Given the description of an element on the screen output the (x, y) to click on. 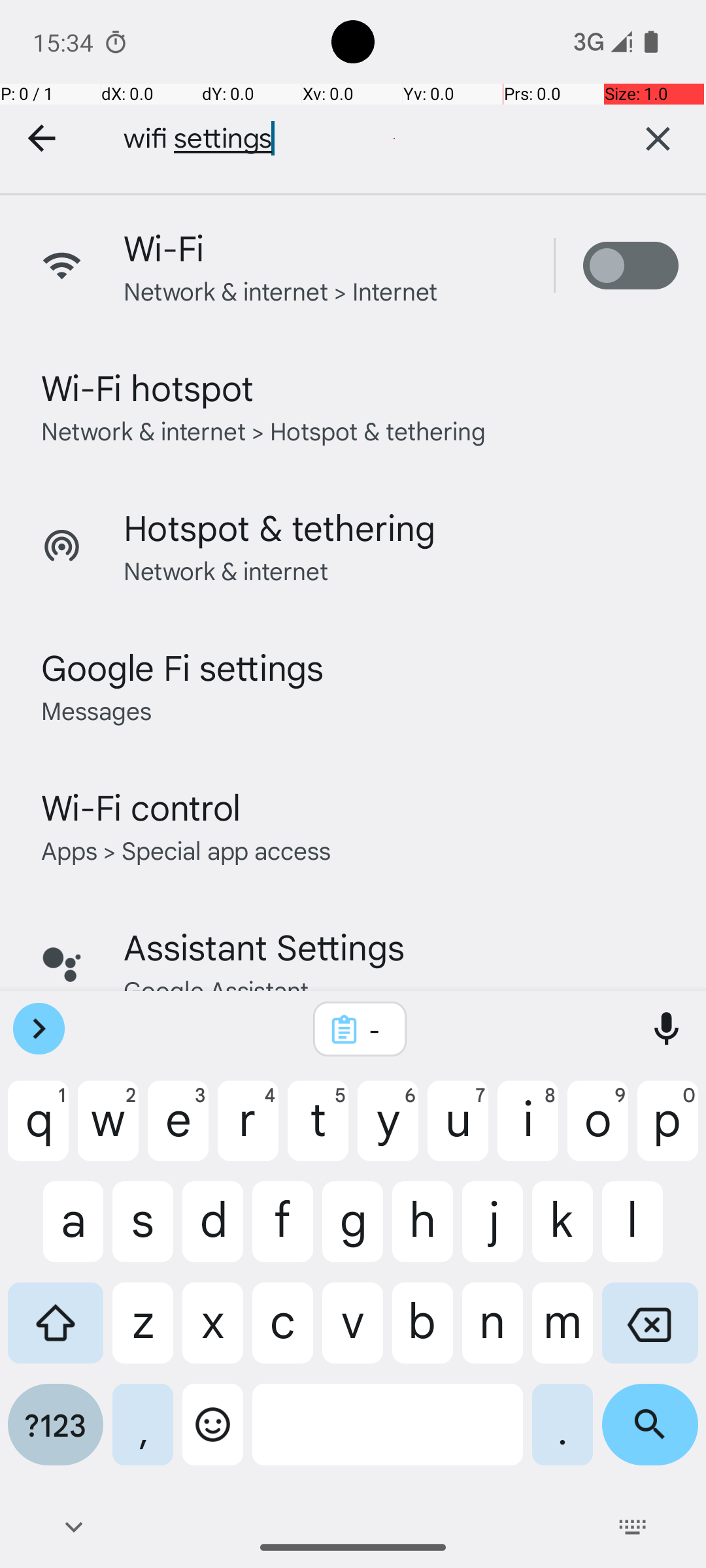
wifi settings Element type: android.widget.EditText (345, 138)
Network & internet > Internet Element type: android.widget.TextView (280, 289)
Wi-Fi hotspot Element type: android.widget.TextView (147, 386)
Network & internet > Hotspot & tethering Element type: android.widget.TextView (263, 429)
Google Fi settings Element type: android.widget.TextView (182, 666)
Wi-Fi control Element type: android.widget.TextView (141, 806)
Apps > Special app access Element type: android.widget.TextView (185, 848)
Assistant Settings Element type: android.widget.TextView (263, 945)
Google Assistant Element type: android.widget.TextView (215, 988)
